Given the description of an element on the screen output the (x, y) to click on. 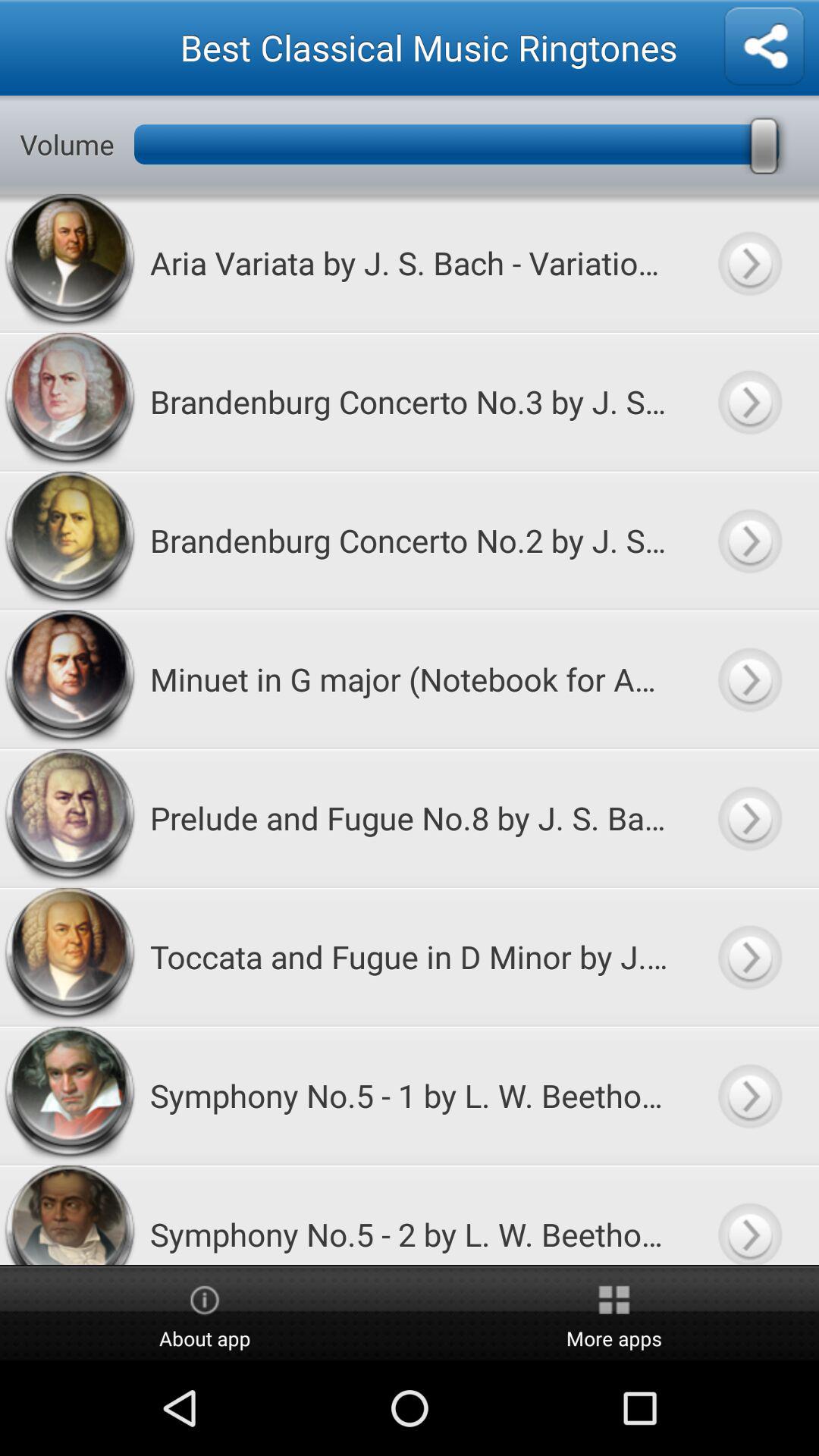
next (749, 956)
